Given the description of an element on the screen output the (x, y) to click on. 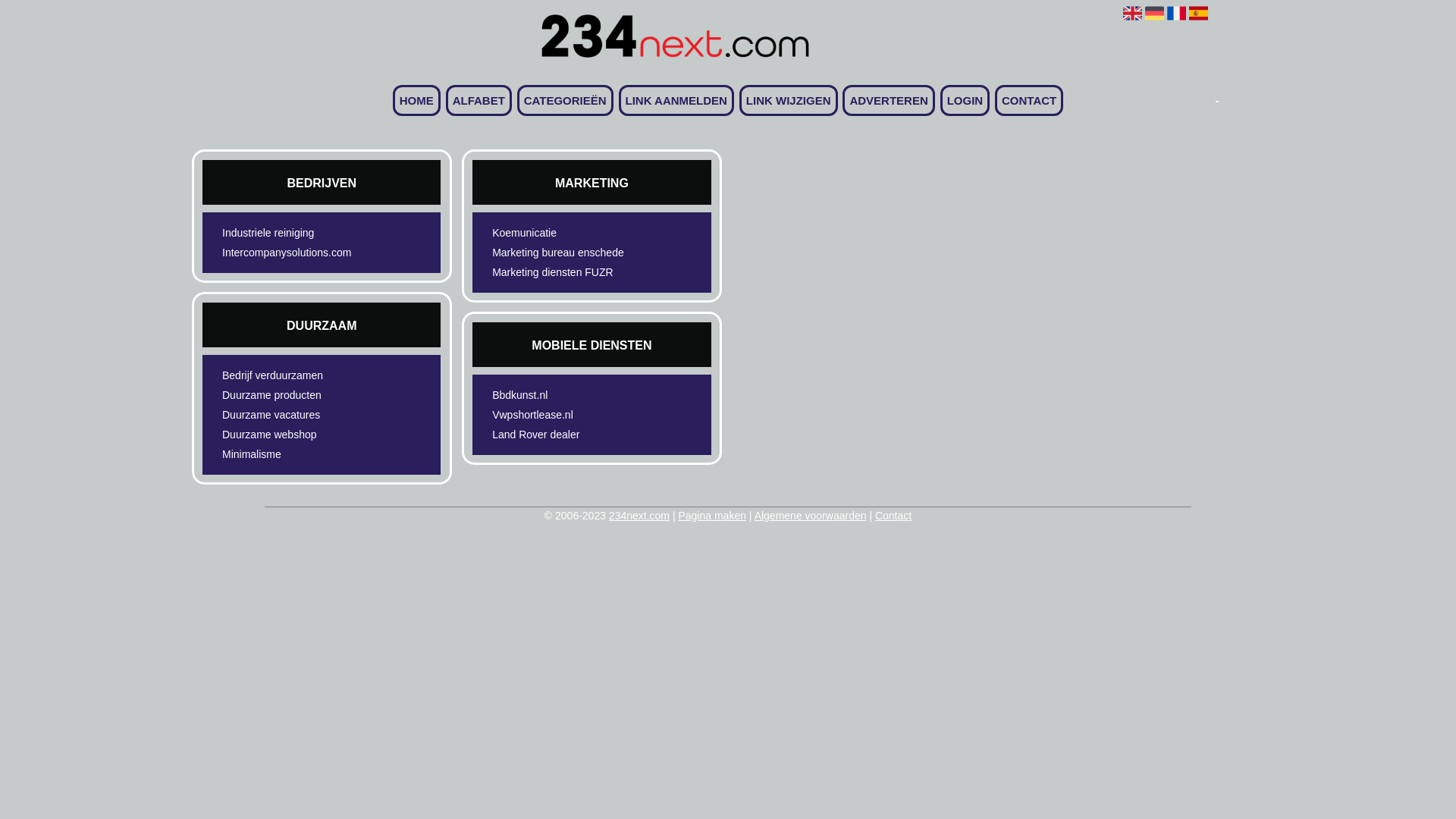
Contact Element type: text (893, 515)
LINK WIJZIGEN Element type: text (788, 100)
Bbdkunst.nl Element type: text (565, 394)
Land Rover dealer Element type: text (565, 434)
Marketing diensten FUZR Element type: text (565, 272)
CONTACT Element type: text (1028, 100)
LOGIN Element type: text (965, 100)
Duurzame vacatures Element type: text (295, 414)
Duurzame producten Element type: text (295, 394)
Minimalisme Element type: text (295, 454)
Intercompanysolutions.com Element type: text (295, 252)
Industriele reiniging Element type: text (295, 232)
LINK AANMELDEN Element type: text (676, 100)
ALFABET Element type: text (478, 100)
Algemene voorwaarden Element type: text (810, 515)
ADVERTEREN Element type: text (888, 100)
HOME Element type: text (416, 100)
Koemunicatie Element type: text (565, 232)
Vwpshortlease.nl Element type: text (565, 414)
234next.com Element type: text (638, 515)
Marketing bureau enschede Element type: text (565, 252)
Bedrijf verduurzamen Element type: text (295, 375)
Duurzame webshop Element type: text (295, 434)
Pagina maken Element type: text (711, 515)
